Given the description of an element on the screen output the (x, y) to click on. 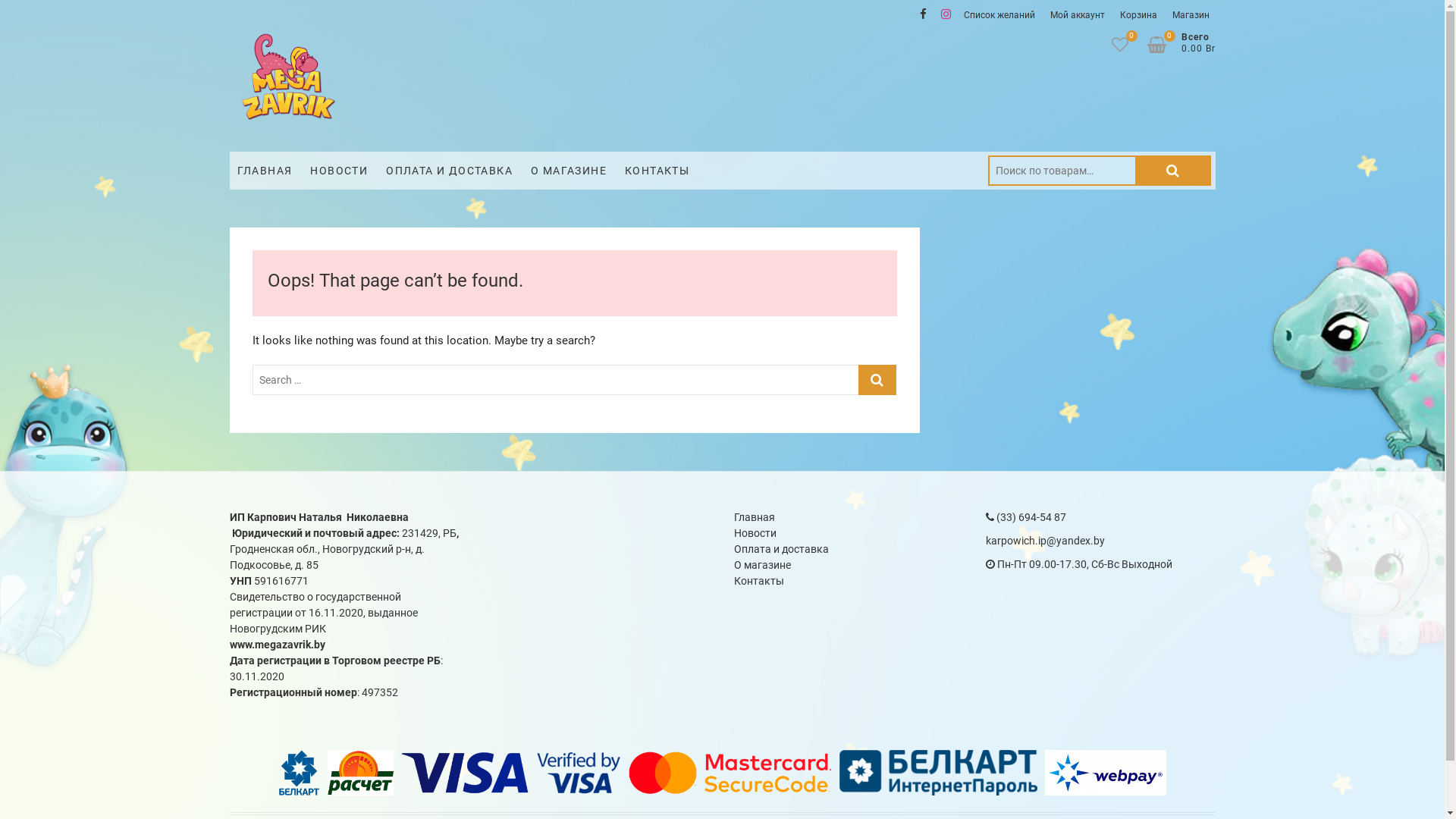
karpowich.ip@yandex.by Element type: text (1044, 540)
instagram Element type: text (945, 14)
facebook Element type: text (922, 14)
(33) 694-54 87 Element type: text (1025, 517)
0 Element type: text (1163, 44)
0 Element type: text (1127, 44)
